Given the description of an element on the screen output the (x, y) to click on. 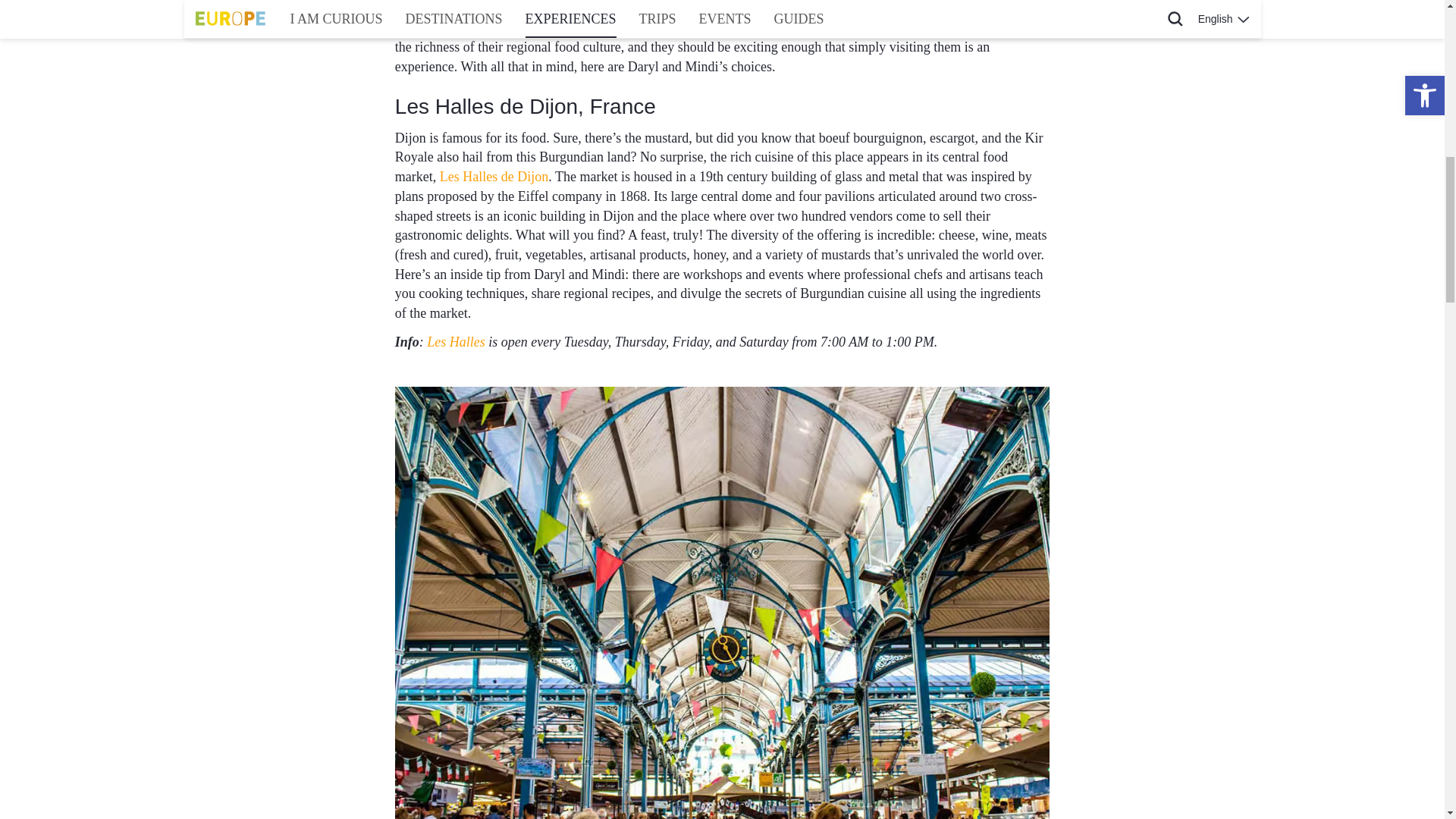
Les Halles de Dijon (493, 176)
Les Halles (455, 341)
